Given the description of an element on the screen output the (x, y) to click on. 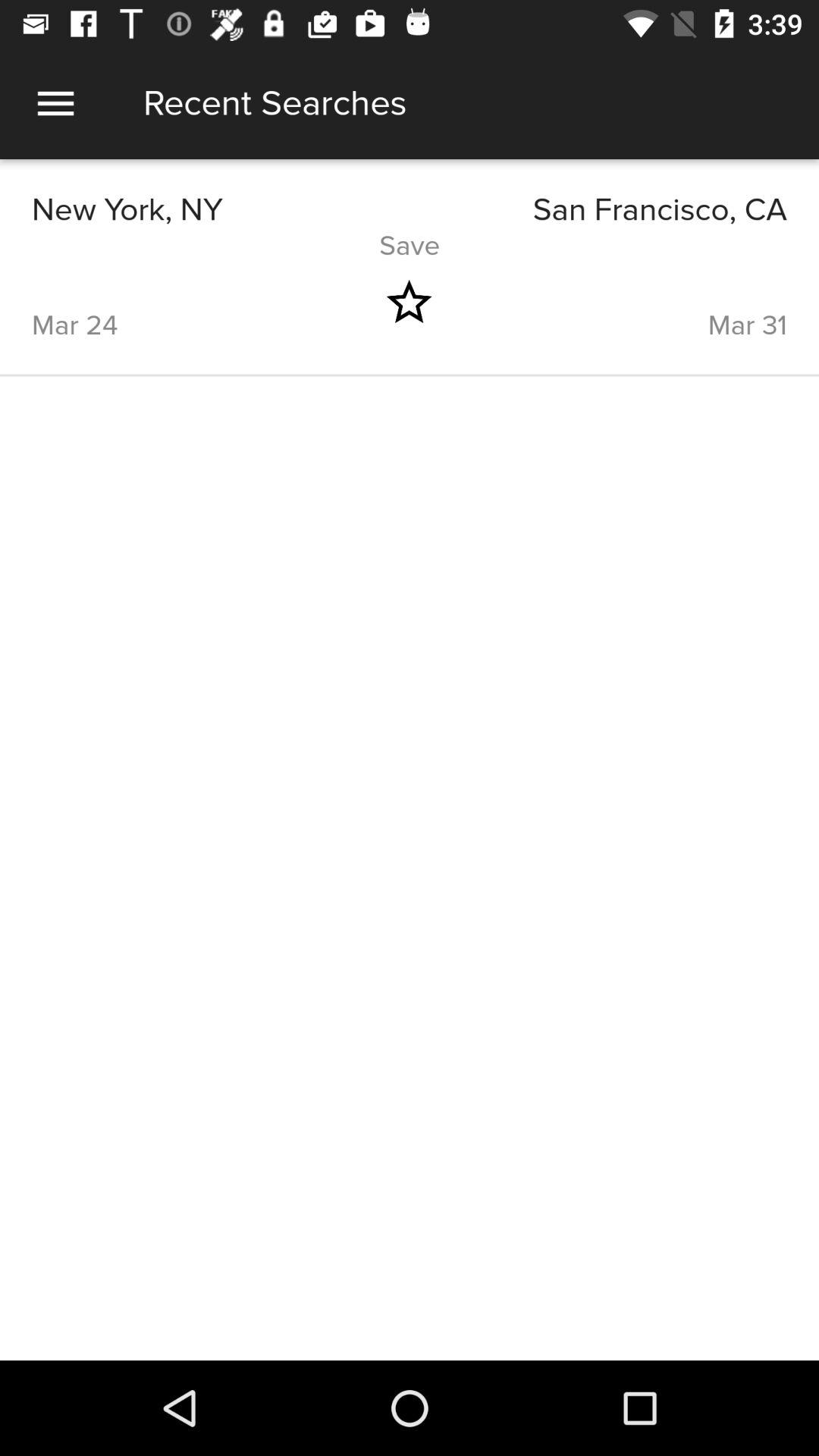
press the new york, ny item (220, 210)
